Given the description of an element on the screen output the (x, y) to click on. 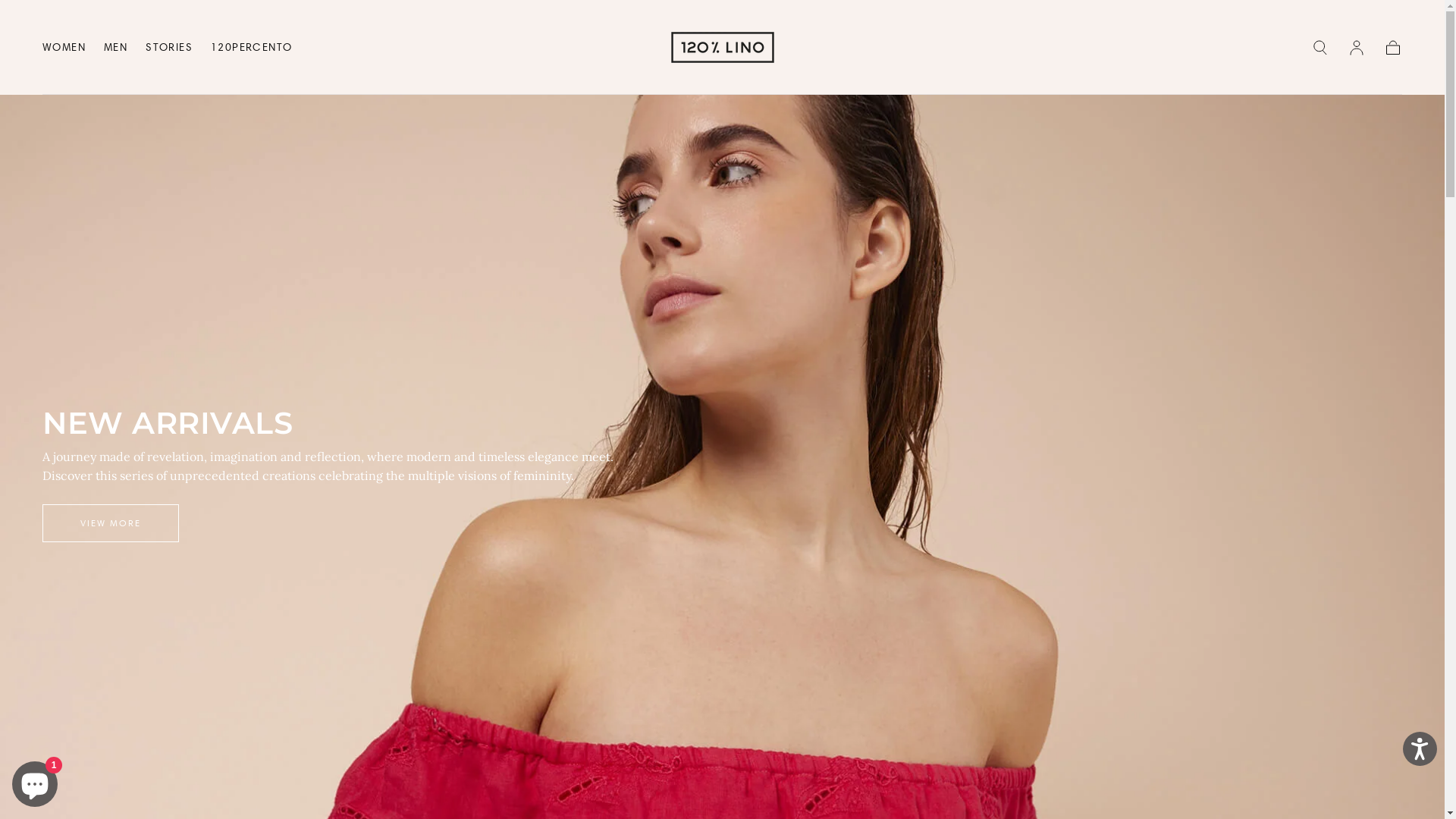
WOMEN Element type: text (63, 49)
Cart Element type: text (1392, 46)
120PERCENTO Element type: text (250, 49)
Shopify online store chat Element type: hover (34, 780)
Sign in Element type: hover (1356, 46)
MEN Element type: text (115, 49)
STORIES Element type: text (168, 49)
VIEW MORE Element type: text (110, 523)
